Given the description of an element on the screen output the (x, y) to click on. 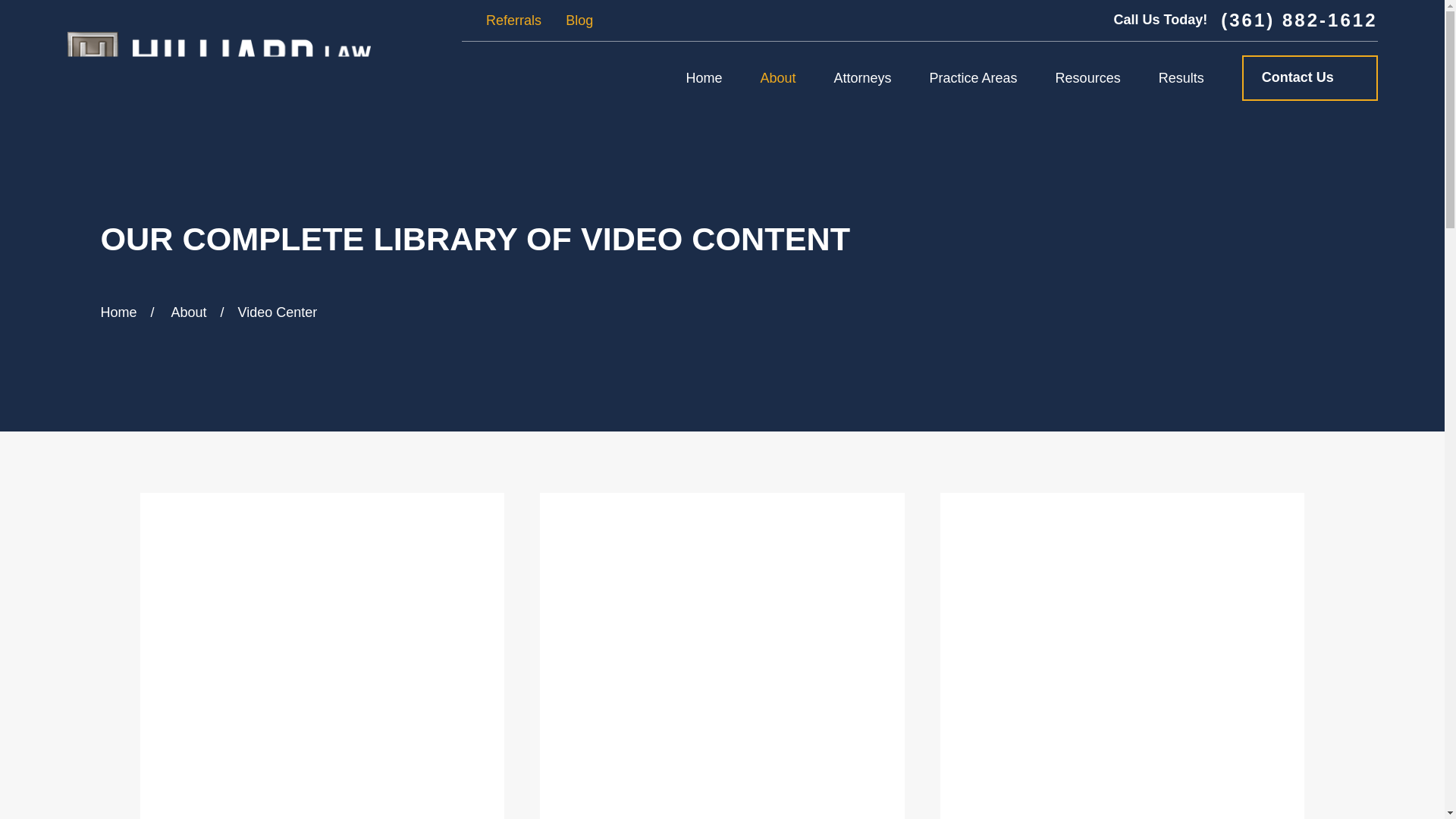
About (777, 78)
Attorneys (862, 78)
Home (703, 78)
Home (217, 56)
Go Home (118, 312)
Blog (579, 20)
Referrals (513, 20)
